Given the description of an element on the screen output the (x, y) to click on. 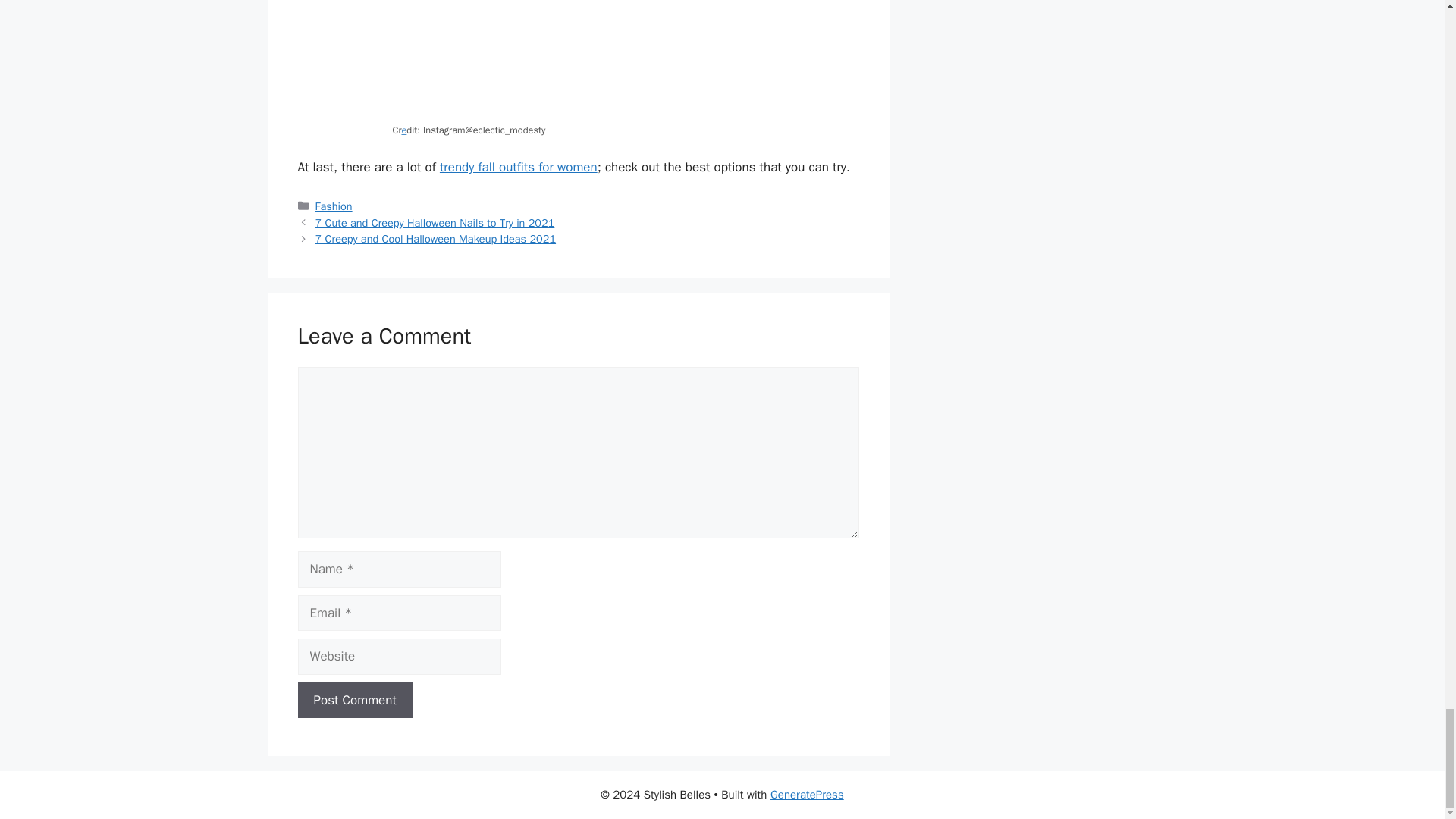
GeneratePress (807, 794)
Dainty Dress with a Cardigan (578, 60)
trendy fall outfits for women (517, 166)
Fashion (333, 205)
7 Creepy and Cool Halloween Makeup Ideas 2021 (435, 238)
7 Cute and Creepy Halloween Nails to Try in 2021 (434, 223)
Post Comment (354, 700)
Post Comment (354, 700)
